Given the description of an element on the screen output the (x, y) to click on. 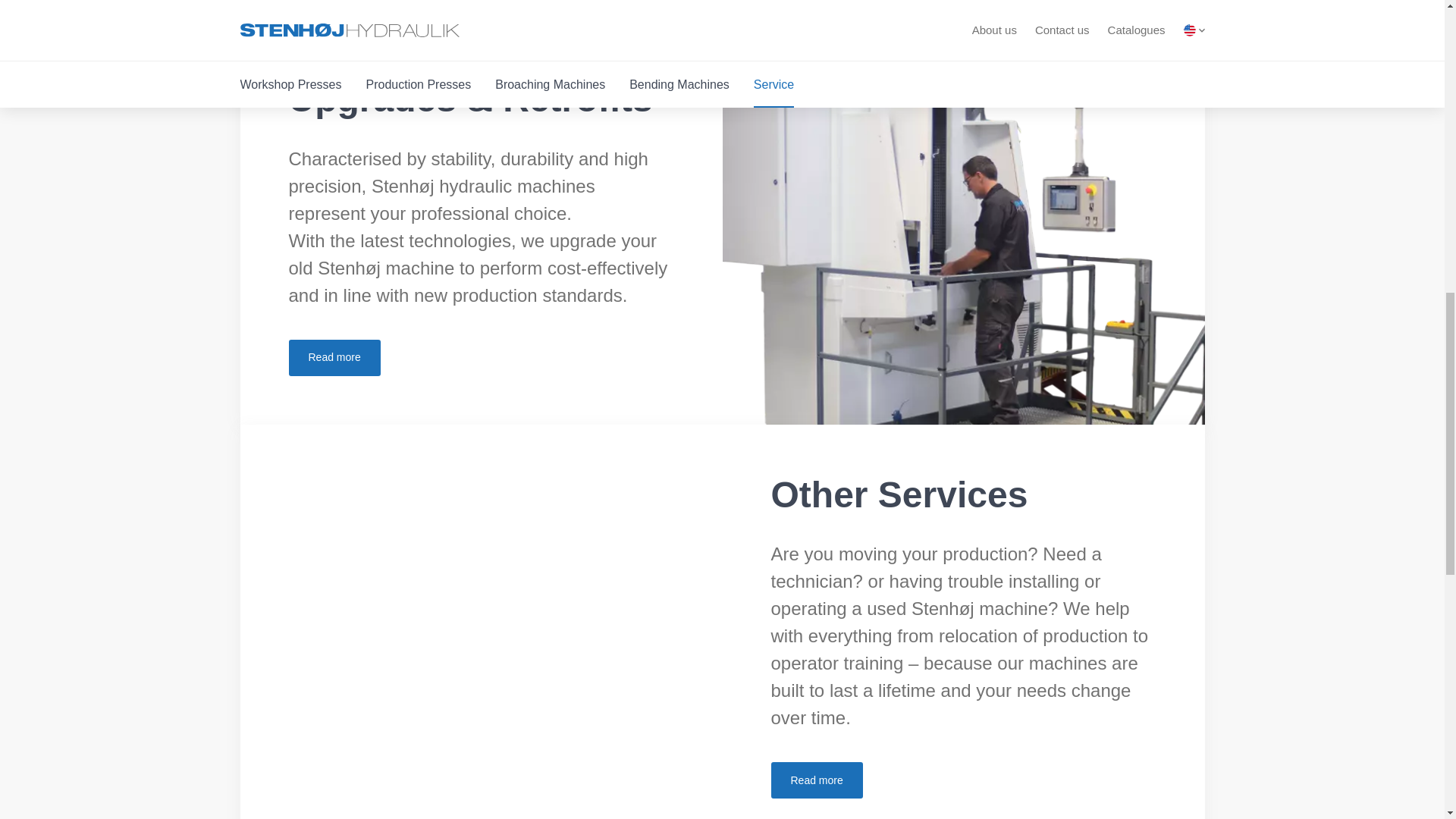
Read more (815, 780)
Read more (334, 357)
Read more (815, 780)
Read more (334, 357)
